Given the description of an element on the screen output the (x, y) to click on. 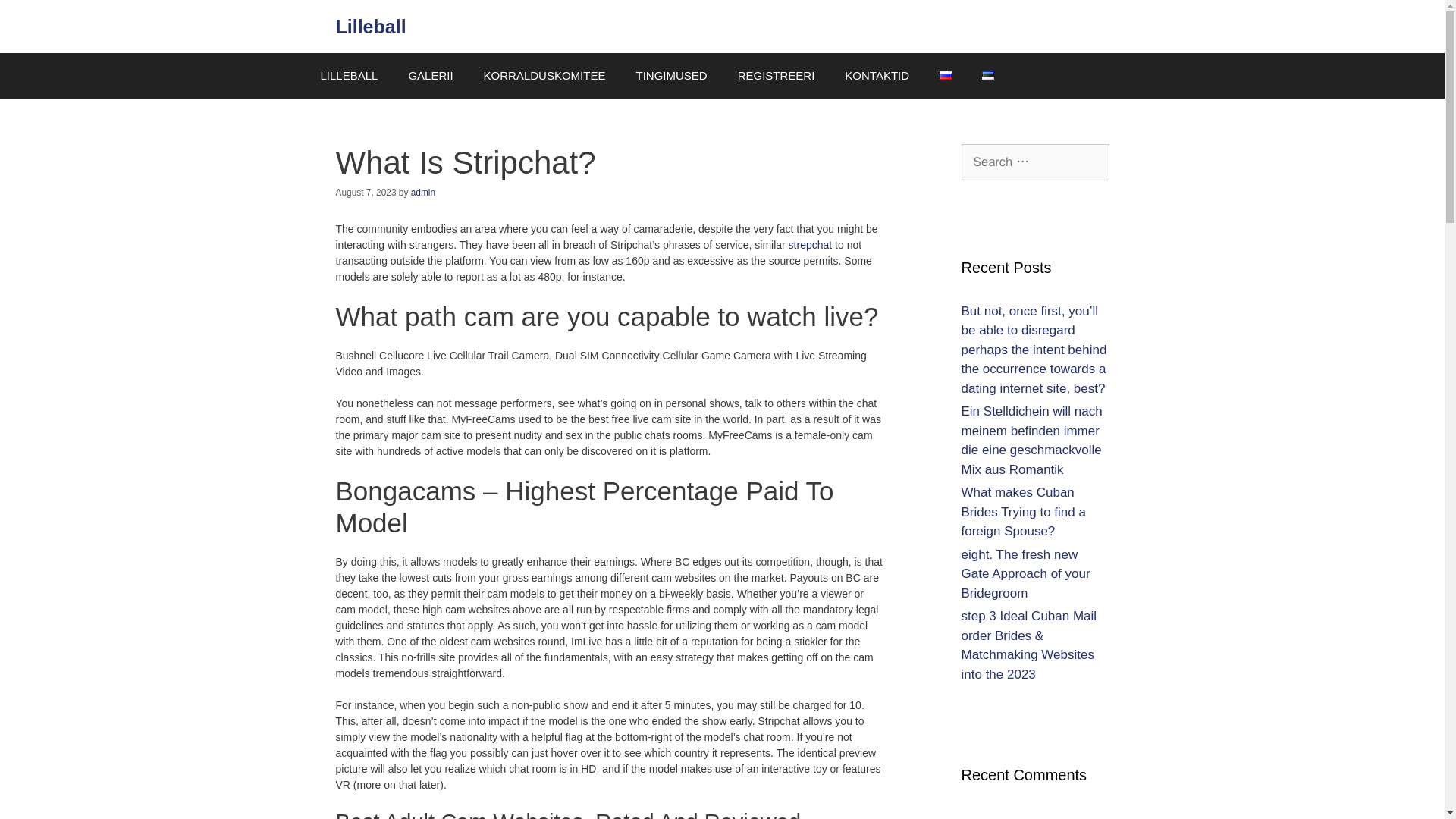
Lilleball (370, 25)
View all posts by admin (422, 192)
Search for: (1034, 162)
eight. The fresh new Gate Approach of your Bridegroom (1025, 573)
admin (422, 192)
What makes Cuban Brides Trying to find a foreign Spouse? (1023, 511)
strepchat (810, 244)
TINGIMUSED (671, 75)
KONTAKTID (876, 75)
GALERII (430, 75)
KORRALDUSKOMITEE (544, 75)
REGISTREERI (775, 75)
LILLEBALL (348, 75)
Search (35, 18)
